Given the description of an element on the screen output the (x, y) to click on. 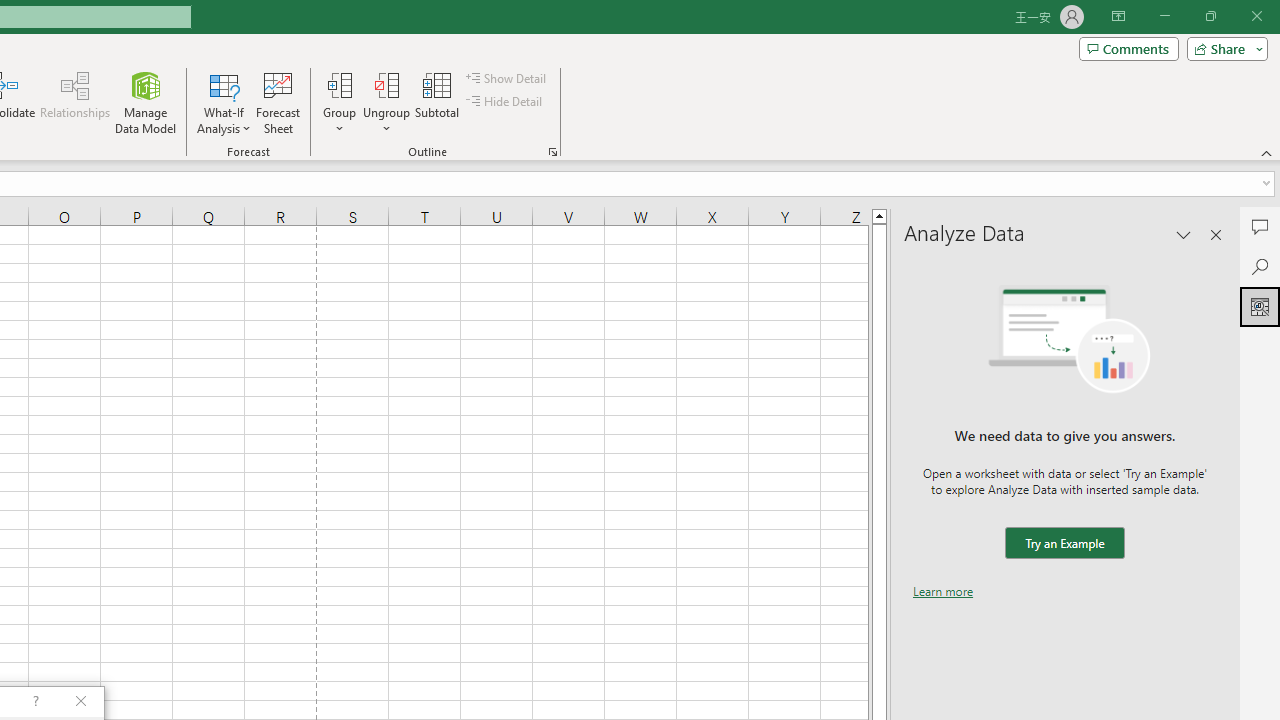
Subtotal (437, 102)
Manage Data Model (145, 102)
What-If Analysis (223, 102)
Hide Detail (505, 101)
Analyze Data (1260, 306)
